Given the description of an element on the screen output the (x, y) to click on. 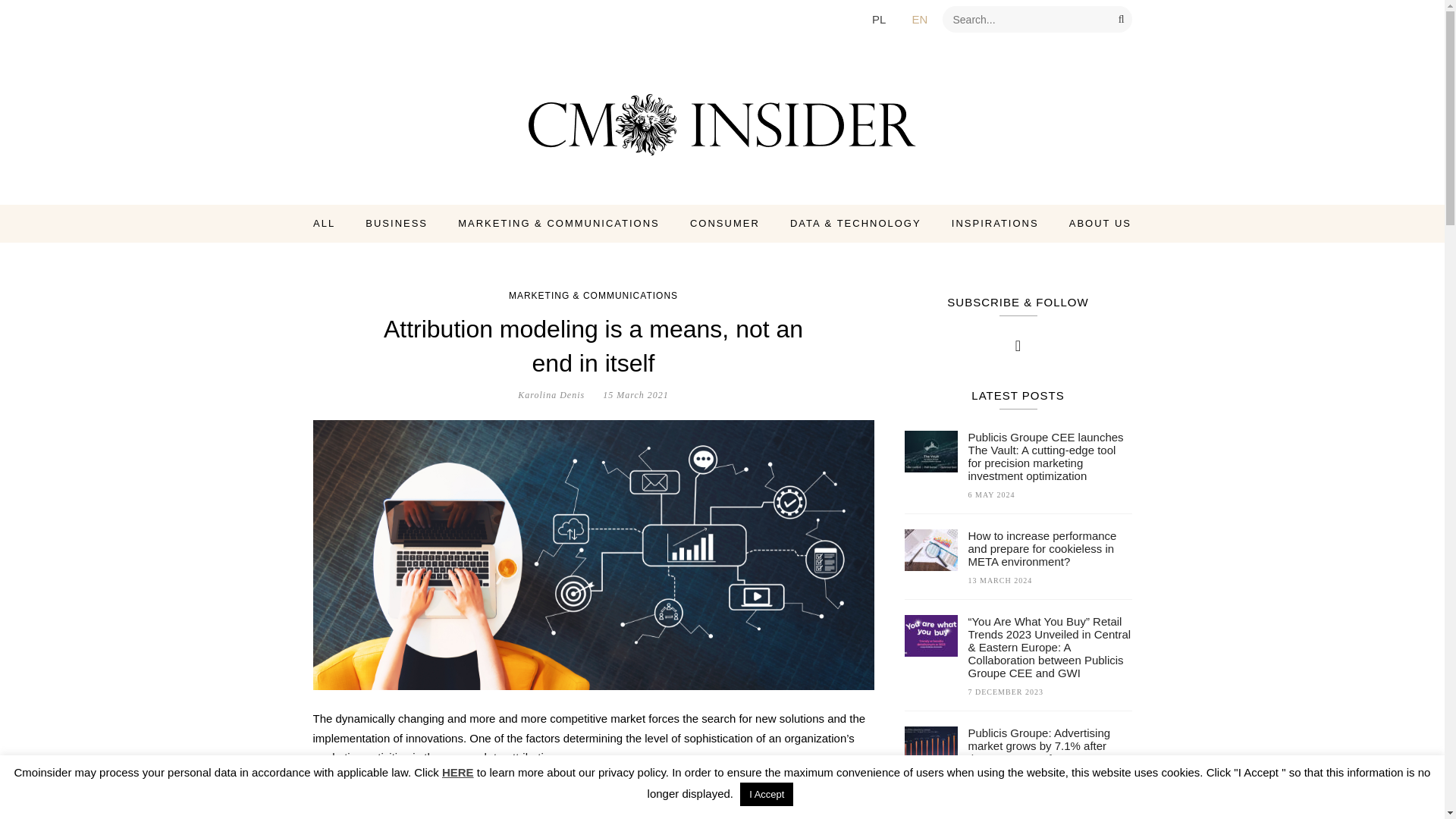
PL (878, 18)
BUSINESS (396, 223)
Karolina Denis (551, 394)
CONSUMER (725, 223)
INSPIRATIONS (995, 223)
ABOUT US (1099, 223)
EN (919, 18)
Posts by Karolina Denis (551, 394)
